Given the description of an element on the screen output the (x, y) to click on. 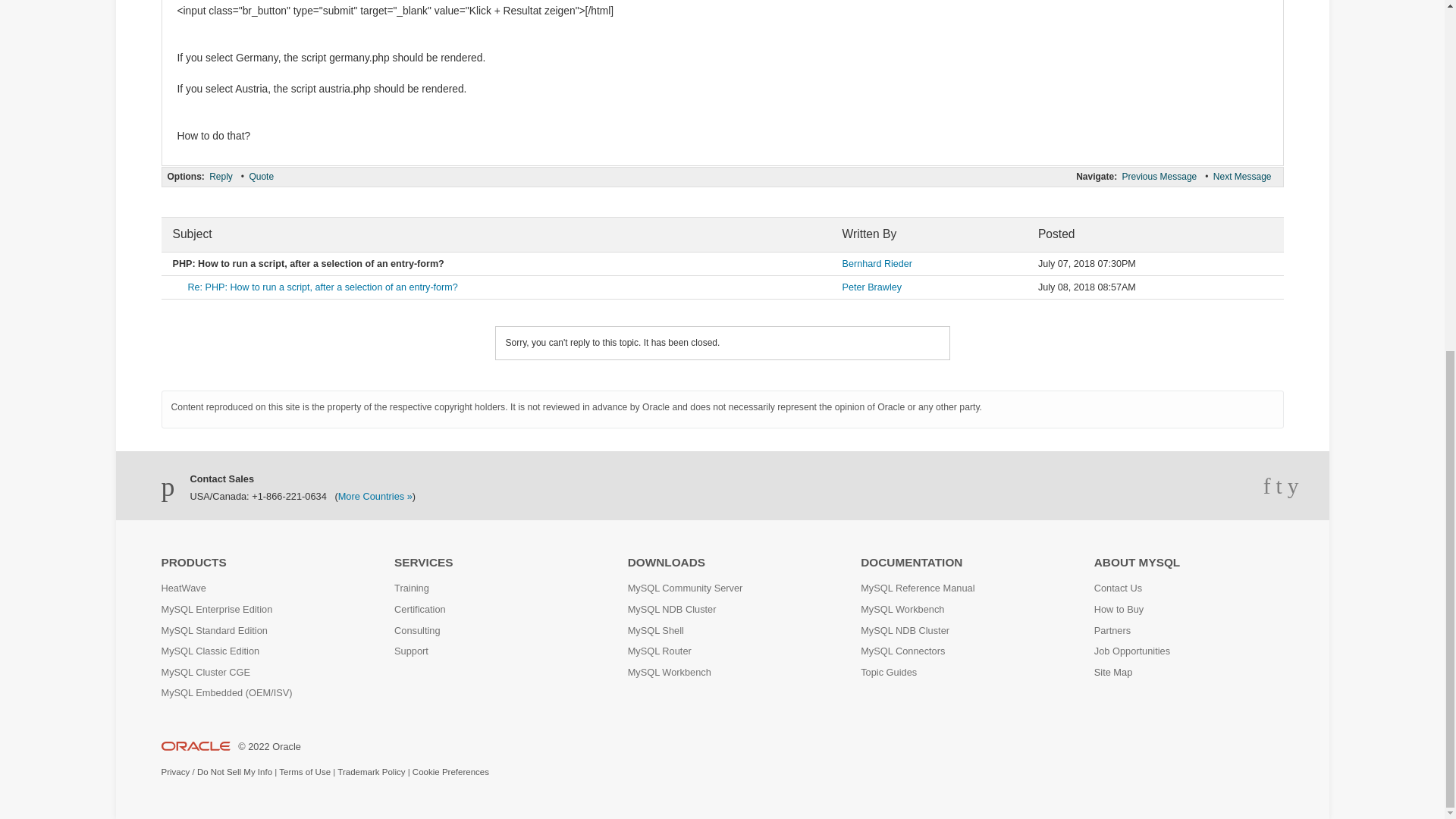
Peter Brawley (872, 286)
Previous Message (1159, 176)
Reply (220, 176)
Quote (261, 176)
Bernhard Rieder (877, 263)
Next Message (1242, 176)
